Given the description of an element on the screen output the (x, y) to click on. 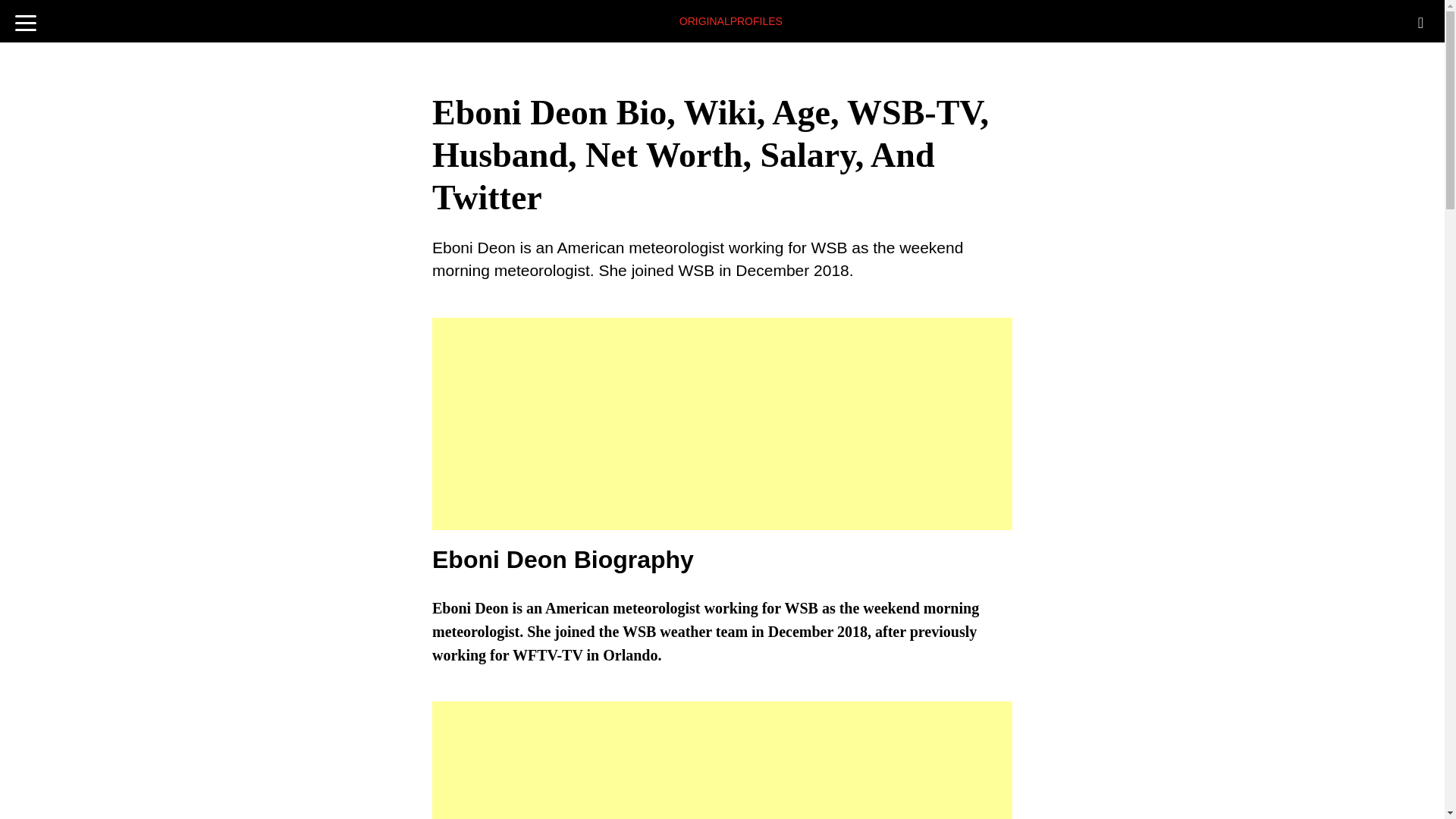
Advertisement (721, 760)
Advertisement (721, 423)
ORIGINALPROFILES (731, 17)
toggle navigation (25, 18)
